Given the description of an element on the screen output the (x, y) to click on. 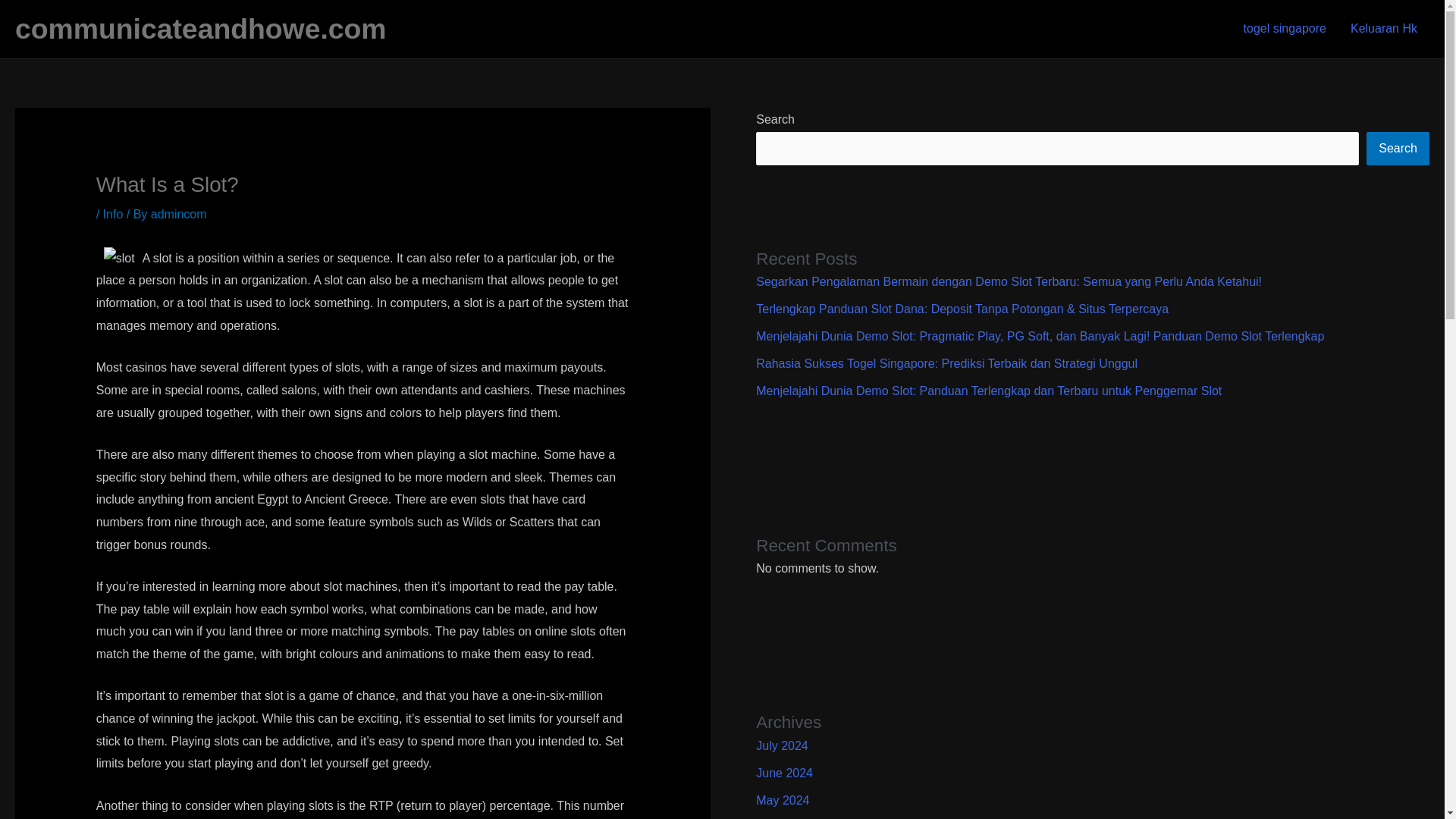
admincom (178, 214)
View all posts by admincom (178, 214)
July 2024 (781, 745)
June 2024 (783, 772)
Search (1398, 148)
communicateandhowe.com (200, 29)
Info (113, 214)
May 2024 (782, 799)
Keluaran Hk (1383, 28)
togel singapore (1284, 28)
